Given the description of an element on the screen output the (x, y) to click on. 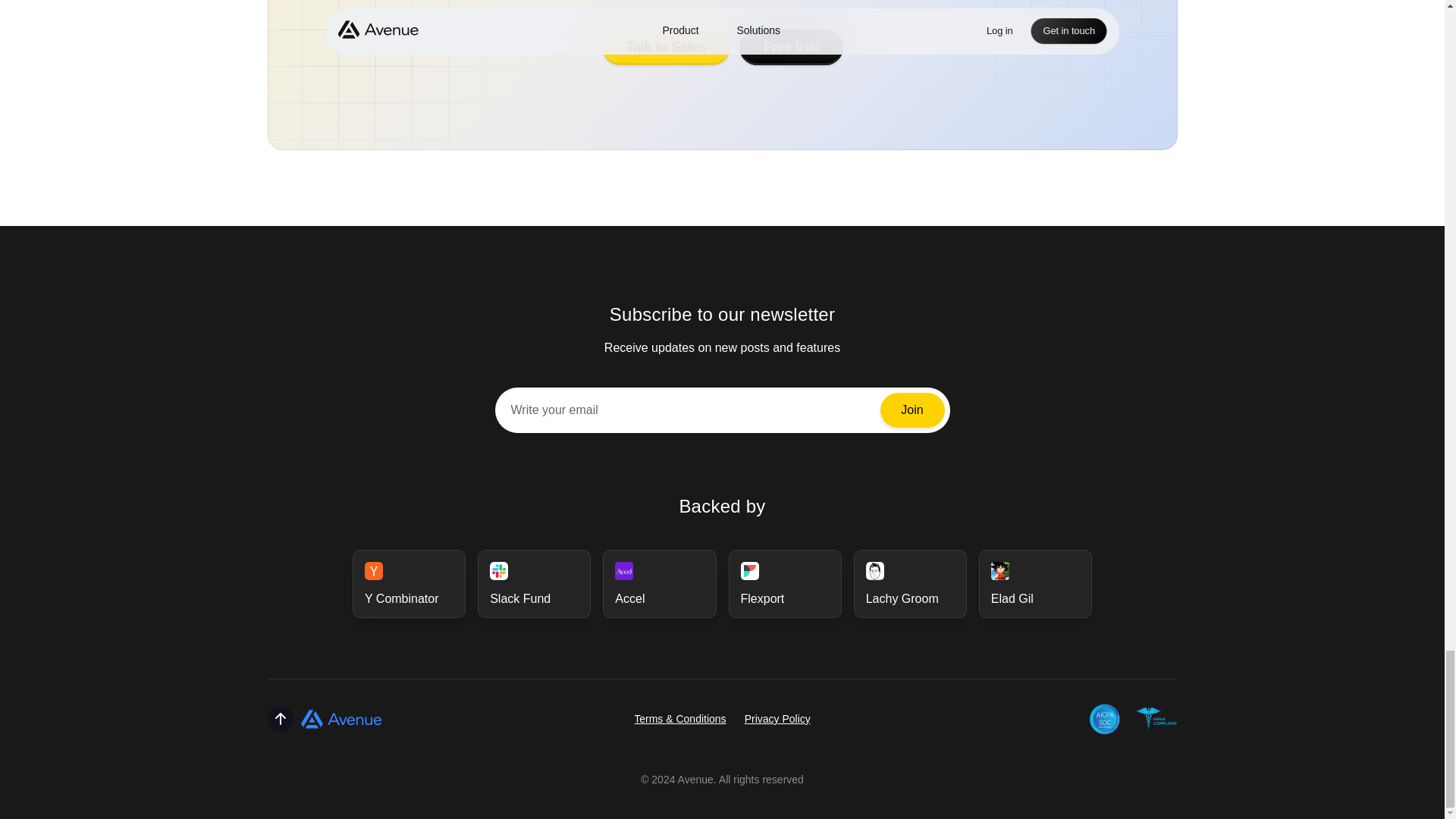
Privacy Policy (777, 718)
Join (911, 410)
Join (911, 410)
Free trial (790, 46)
Talk to Sales (665, 46)
